Given the description of an element on the screen output the (x, y) to click on. 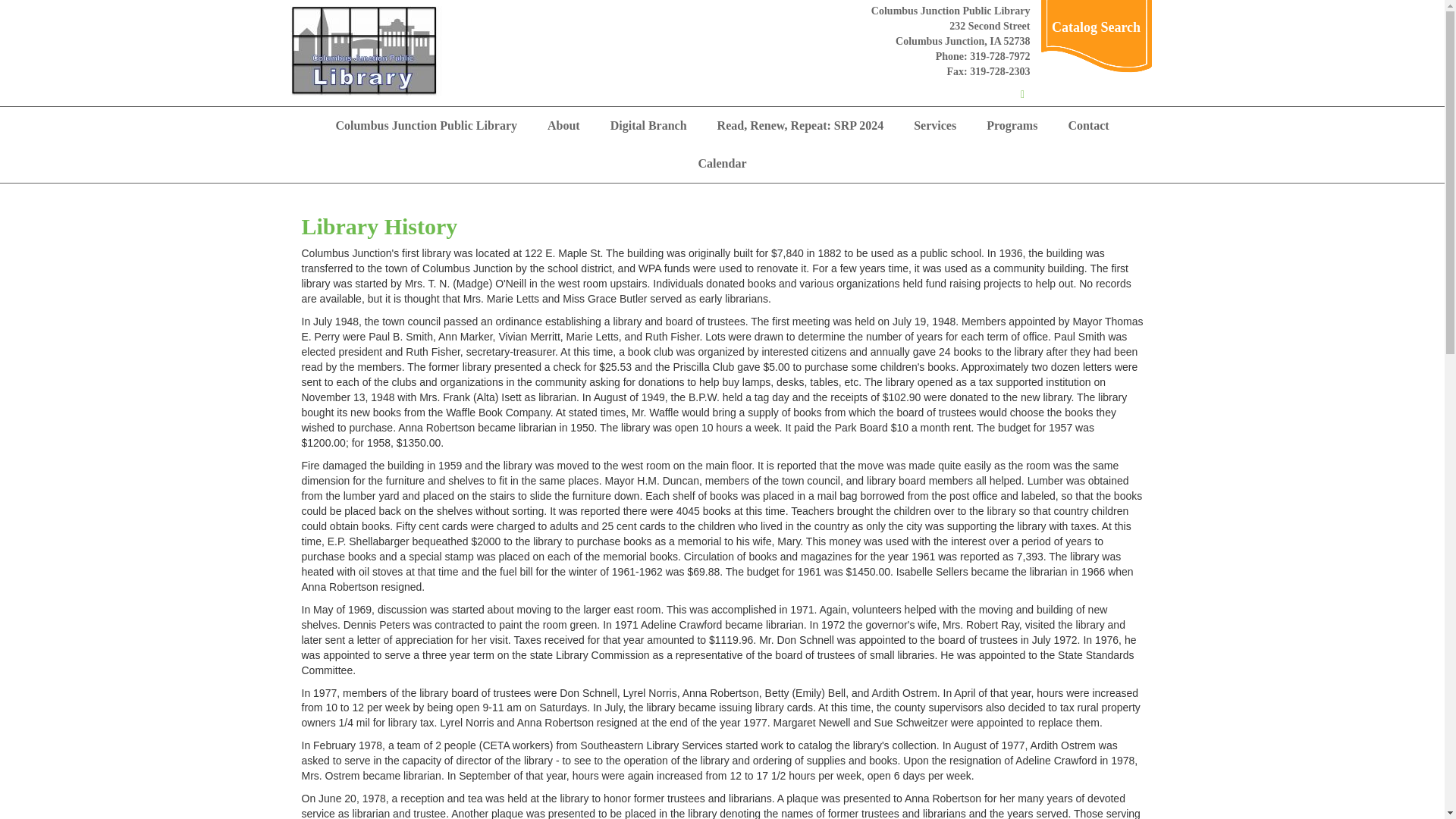
Catalog Search (1095, 27)
Read, Renew, Repeat: SRP 2024 (800, 125)
About (563, 125)
Digital Branch (648, 125)
Programs (1011, 125)
Services (934, 125)
Columbus Junction Public Library (426, 125)
